Given the description of an element on the screen output the (x, y) to click on. 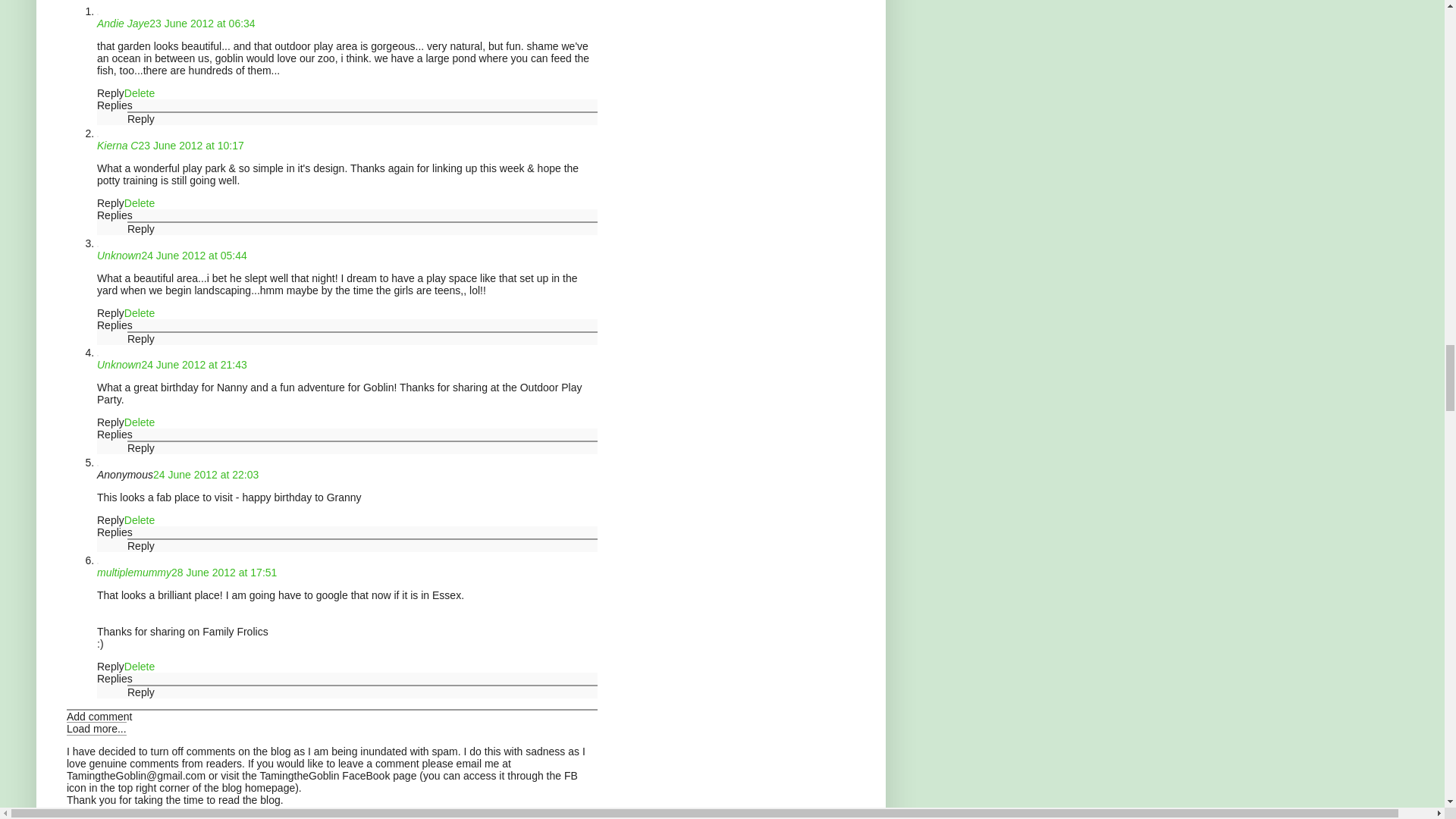
Delete (138, 92)
Reply (110, 92)
Andie Jaye (123, 23)
Reply (141, 119)
Replies (114, 105)
Reply (110, 203)
Kierna C (117, 145)
23 June 2012 at 06:34 (201, 23)
Delete (138, 203)
23 June 2012 at 10:17 (190, 145)
